Given the description of an element on the screen output the (x, y) to click on. 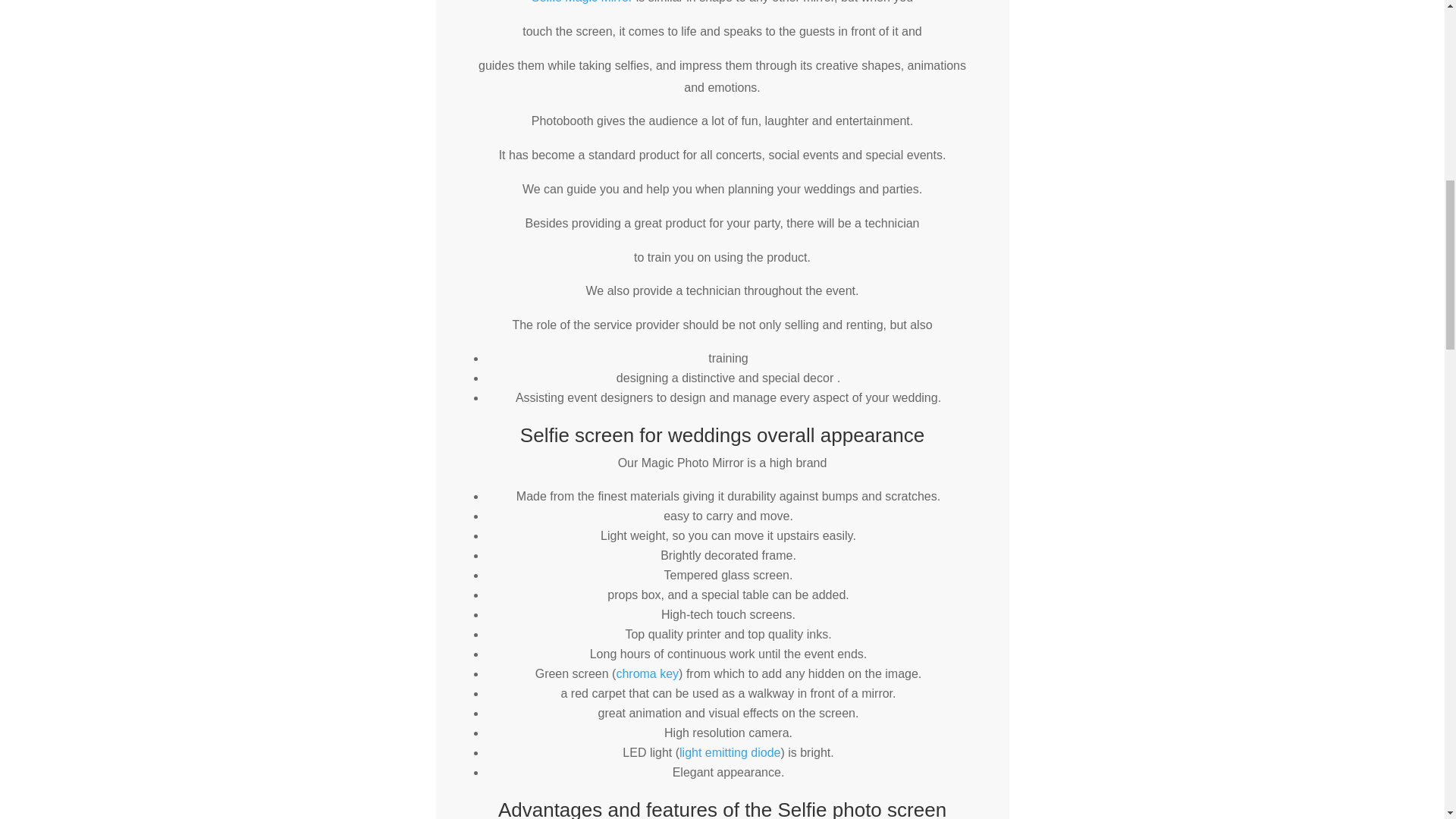
Selfie Magic Mirror (581, 2)
light emitting diode (729, 752)
chroma key (646, 673)
